Given the description of an element on the screen output the (x, y) to click on. 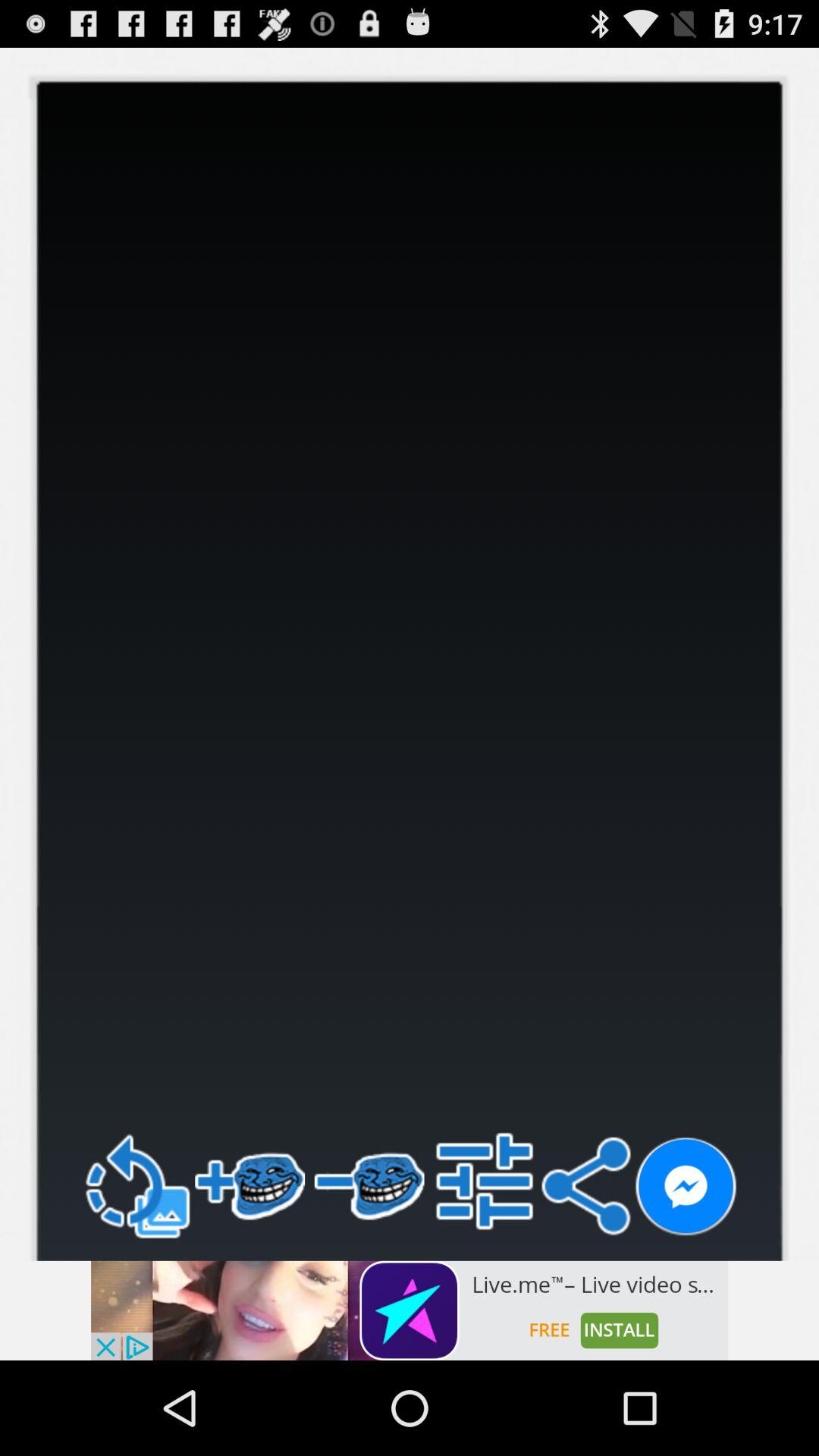
select an image (409, 1310)
